Given the description of an element on the screen output the (x, y) to click on. 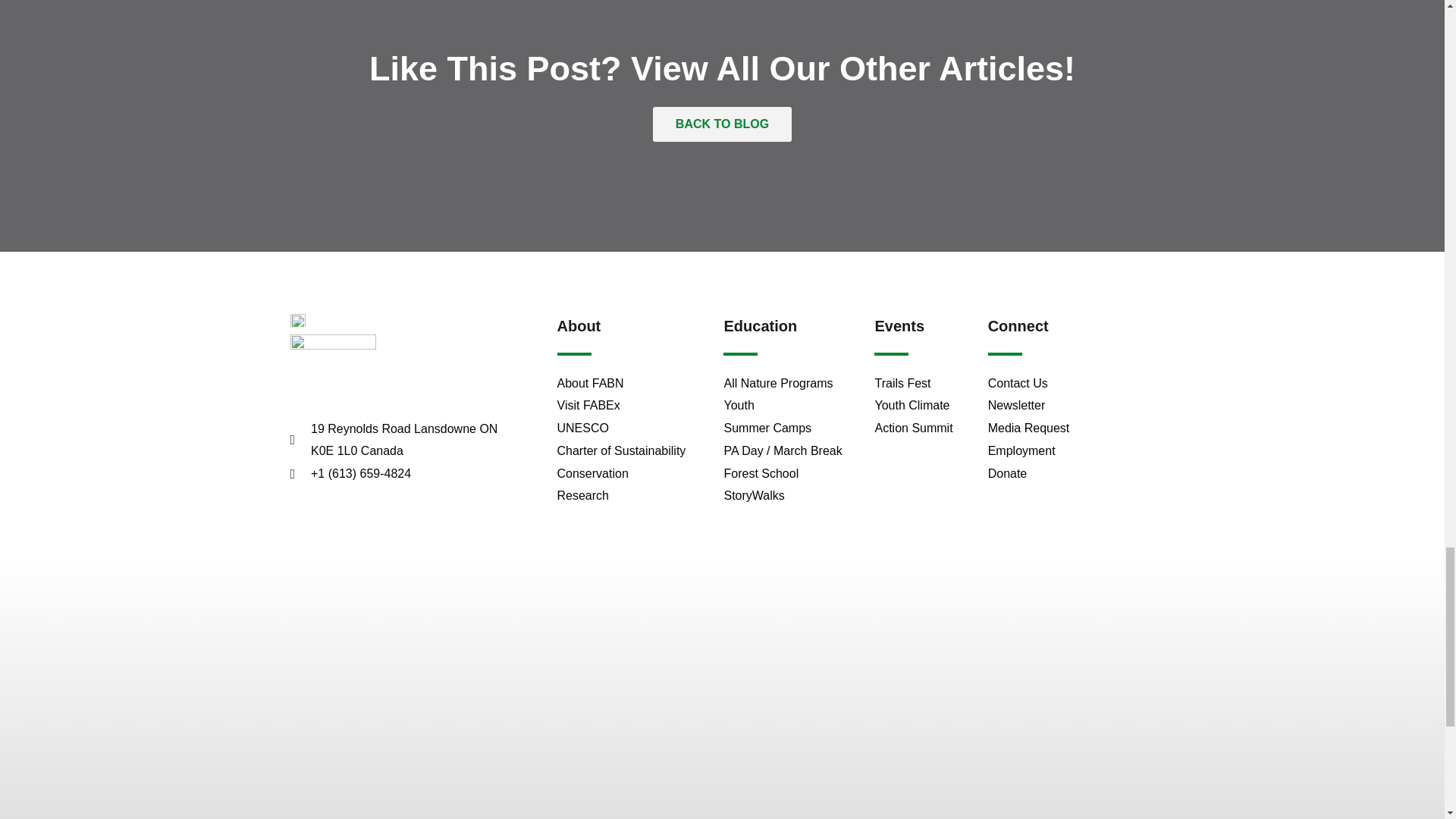
Newsletter (1067, 404)
All Nature Programs (791, 383)
19 Reynolds Road Lansdowne ON K0E 1L0 Canada (397, 439)
Summer Camps (791, 427)
Visit FABEx (631, 404)
BACK TO BLOG (722, 124)
Employment (1067, 450)
Forest School (791, 473)
Donate (1067, 473)
Conservation (631, 473)
